Given the description of an element on the screen output the (x, y) to click on. 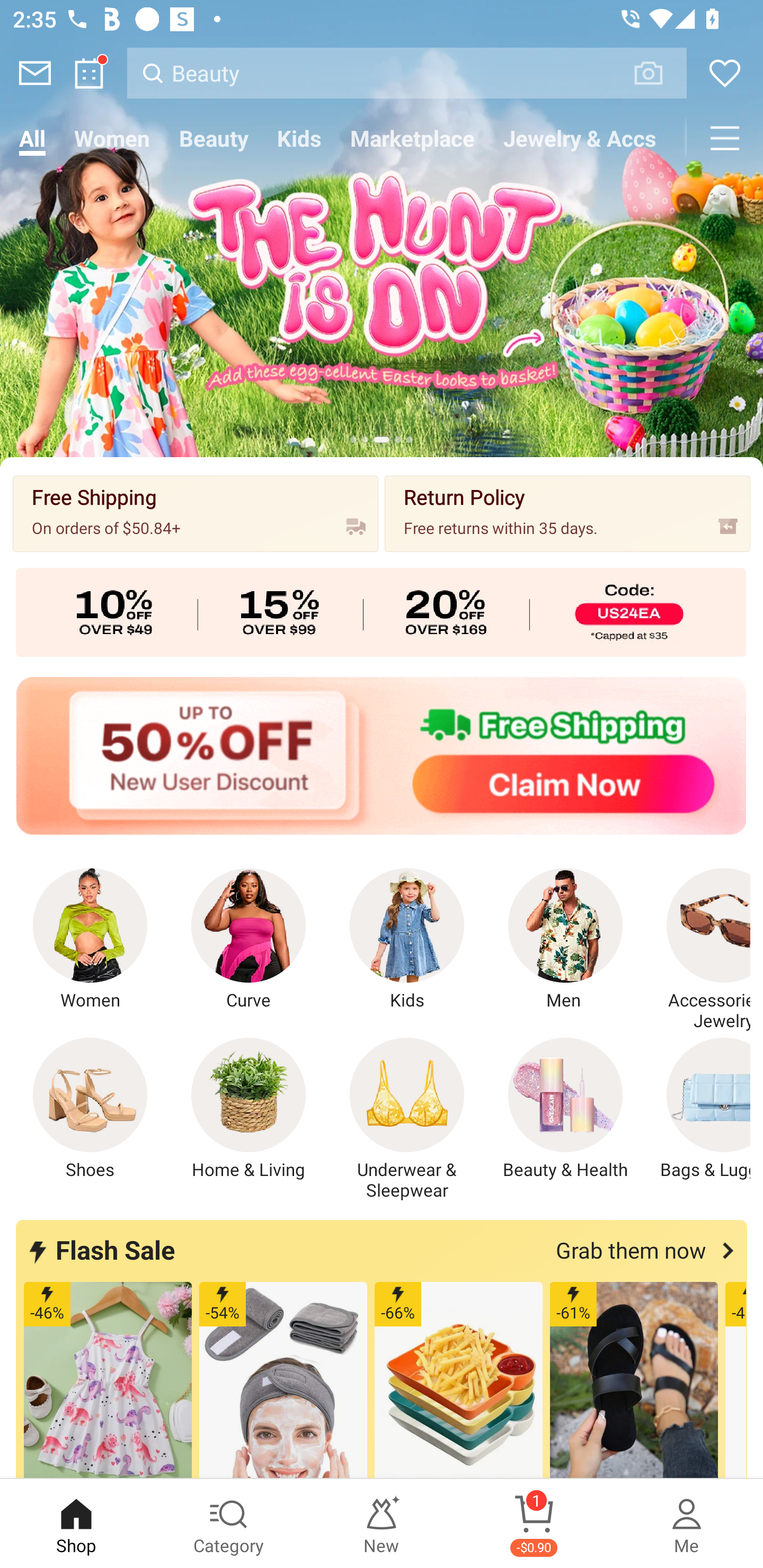
Wishlist (724, 72)
VISUAL SEARCH (657, 72)
All (31, 137)
Women (111, 137)
Beauty (213, 137)
Kids (298, 137)
Marketplace (412, 137)
Jewelry & Accs (580, 137)
Free Shipping On orders of $50.84+ (195, 513)
Return Policy Free returns within 35 days. (567, 513)
Women (89, 939)
Curve (248, 939)
Kids (406, 939)
Men  (565, 939)
Accessories & Jewelry (698, 949)
Shoes (89, 1109)
Home & Living (248, 1109)
Underwear & Sleepwear (406, 1119)
Beauty & Health (565, 1109)
Bags & Luggage (698, 1109)
Category (228, 1523)
New (381, 1523)
Cart 1 -$0.90 (533, 1523)
Me (686, 1523)
